Given the description of an element on the screen output the (x, y) to click on. 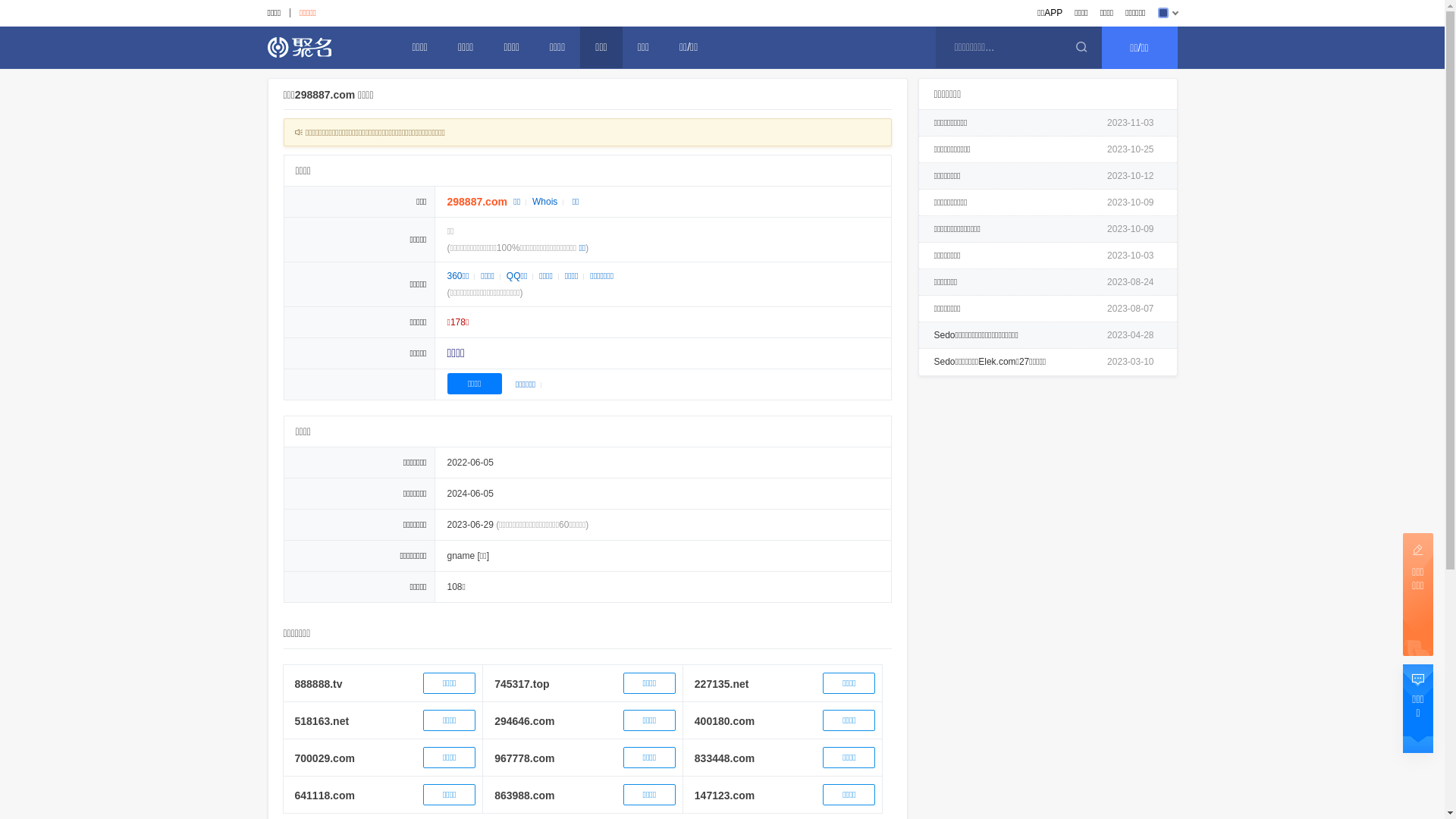
Whois Element type: text (544, 201)
